Given the description of an element on the screen output the (x, y) to click on. 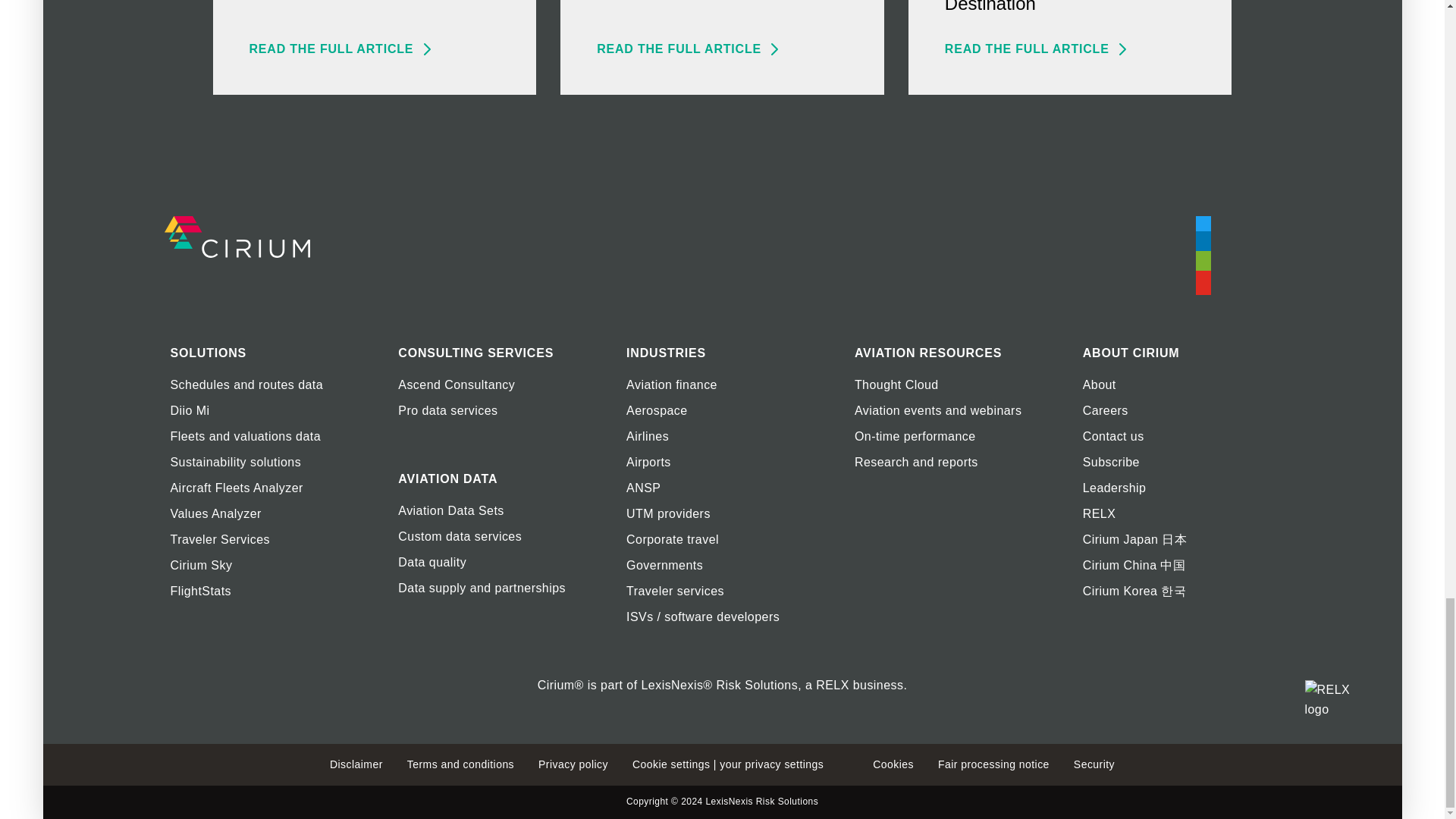
WeChat (1202, 264)
Twitter (1202, 225)
YouTube (1202, 284)
LinkedIn (1202, 244)
